Given the description of an element on the screen output the (x, y) to click on. 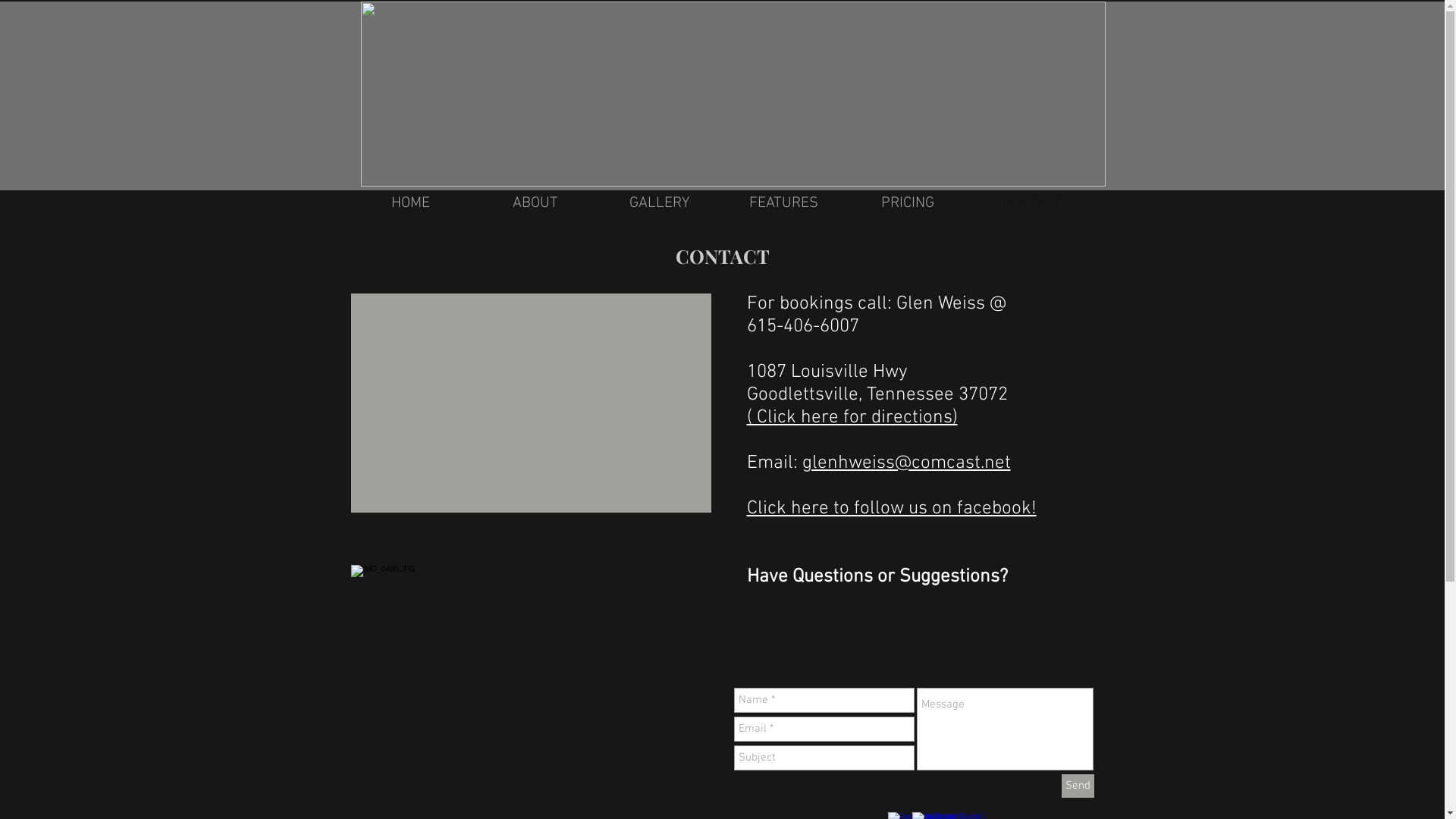
glenhweiss@comcast.net Element type: text (906, 462)
FEATURES Element type: text (783, 203)
( Click here for directions) Element type: text (851, 417)
CONTACT Element type: text (1030, 203)
ABOUT Element type: text (535, 203)
GALLERY Element type: text (659, 203)
HOME Element type: text (410, 203)
PRICING Element type: text (907, 203)
Click here to follow us on facebook! Element type: text (890, 508)
Send Element type: text (1077, 785)
Google Maps Element type: hover (530, 402)
